Given the description of an element on the screen output the (x, y) to click on. 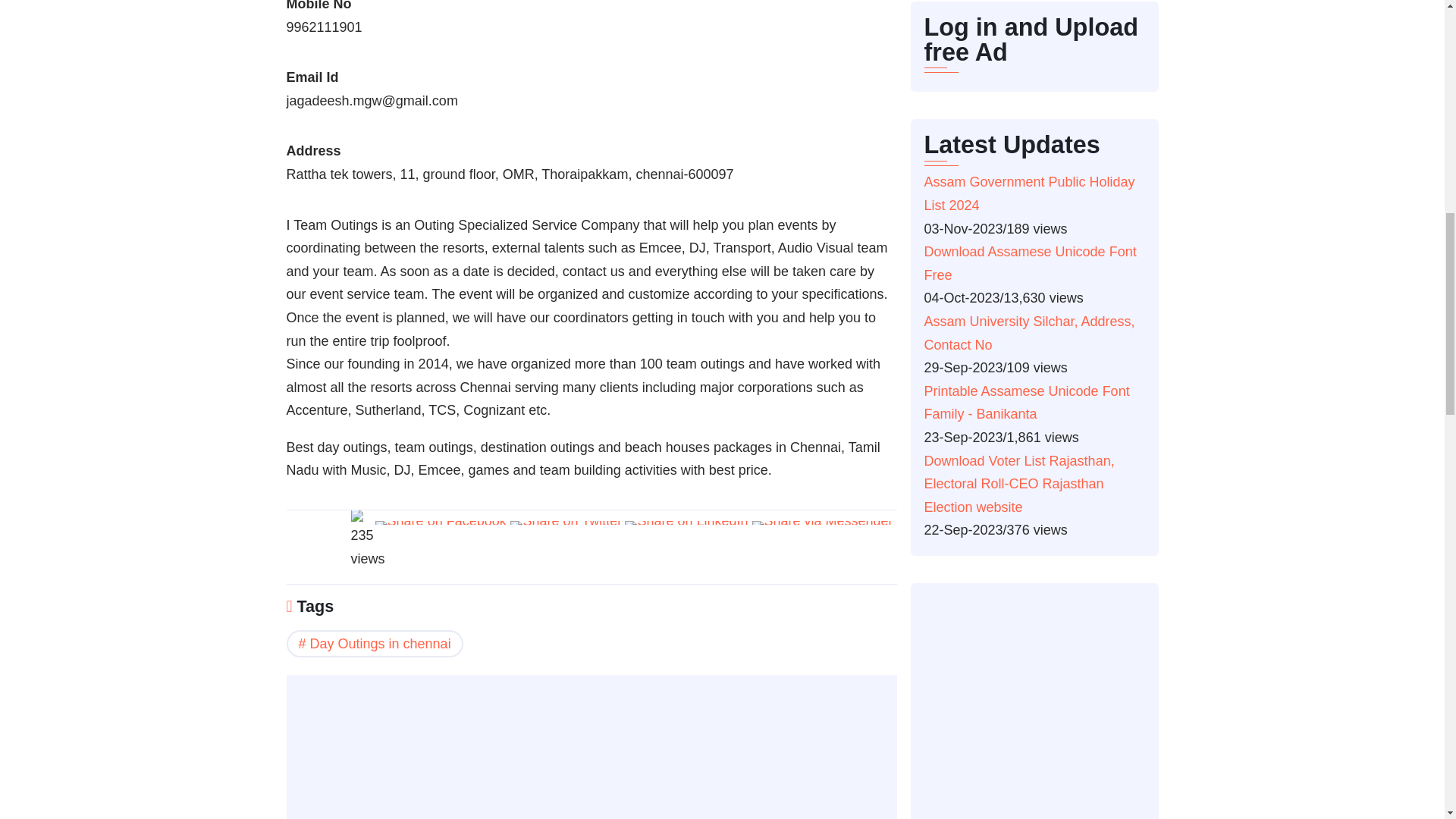
Assam University Silchar, Address, Contact No (1028, 332)
Day Outings in chennai (374, 643)
Share on Twitter (566, 526)
Download Assamese Unicode Font Free (1029, 263)
Assam Government Public Holiday List 2024 (1028, 193)
Share via Messenger (822, 526)
Share on LinkedIn (686, 526)
Printable Assamese Unicode Font Family - Banikanta (1026, 403)
Share on Facebook (439, 526)
